Given the description of an element on the screen output the (x, y) to click on. 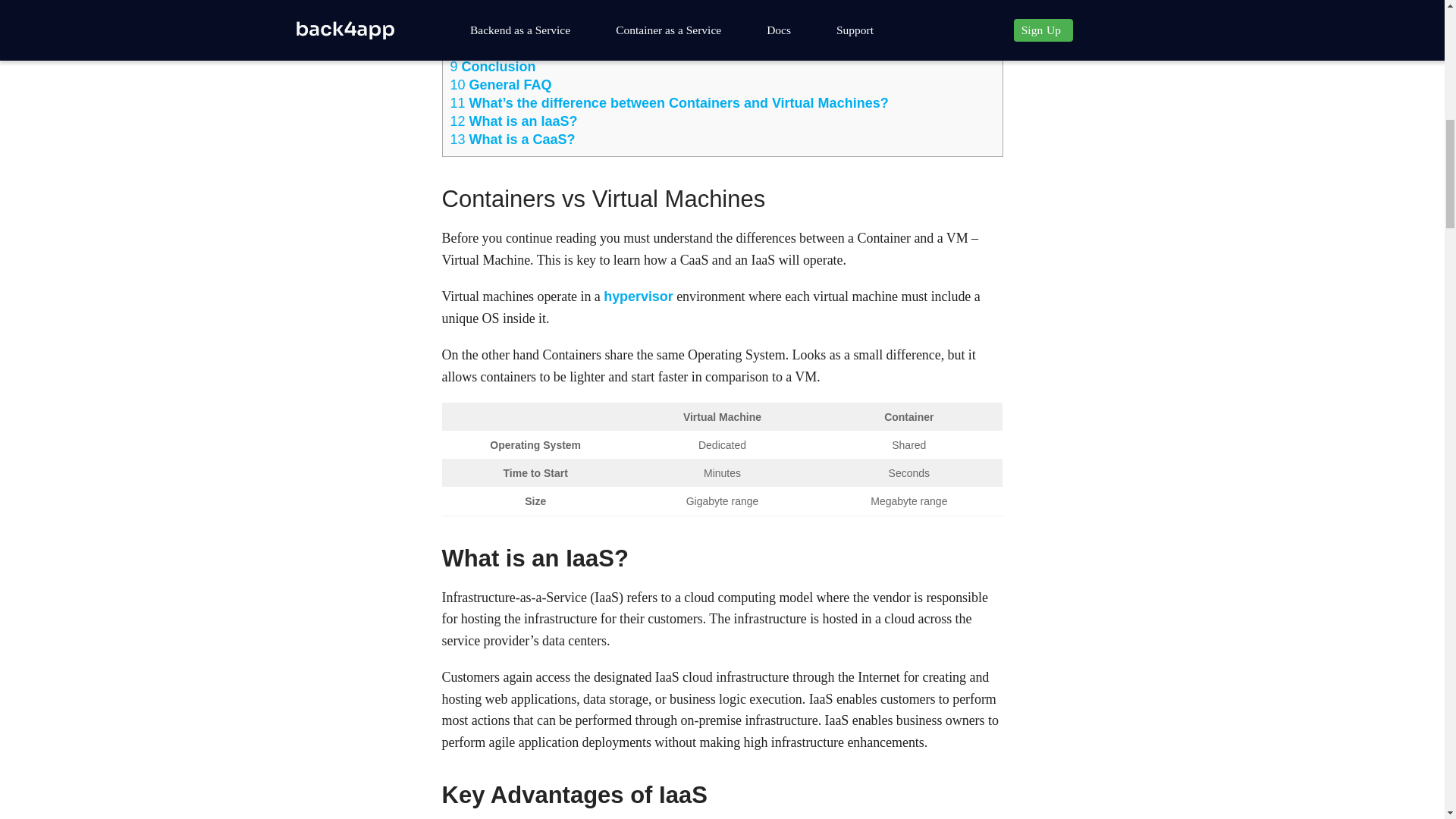
hypervisor (638, 296)
7.2 Amazon EC2 Container Service (582, 11)
12 What is an IaaS? (513, 120)
10 General FAQ (500, 84)
9 Conclusion (492, 66)
7.3 Mirantis Cloud Platform (558, 29)
13 What is a CaaS? (512, 139)
